Given the description of an element on the screen output the (x, y) to click on. 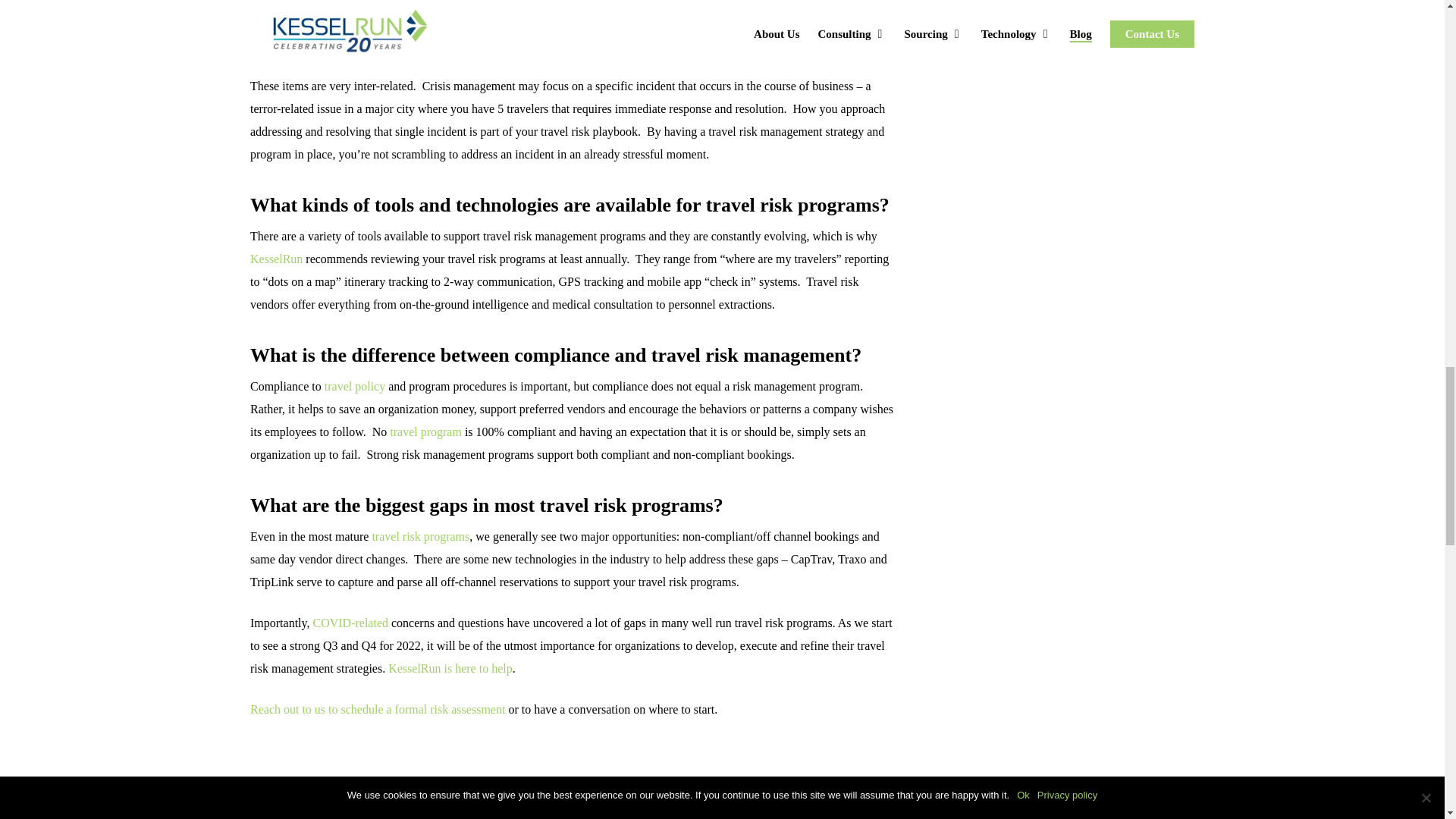
Krissy Herman (323, 805)
KesselRun is here to help (450, 667)
travel policy (354, 386)
travel program (425, 431)
Reach out to us to schedule a formal risk assessment (377, 708)
travel risk programs (419, 535)
COVID-related (350, 622)
KesselRun (276, 258)
